Given the description of an element on the screen output the (x, y) to click on. 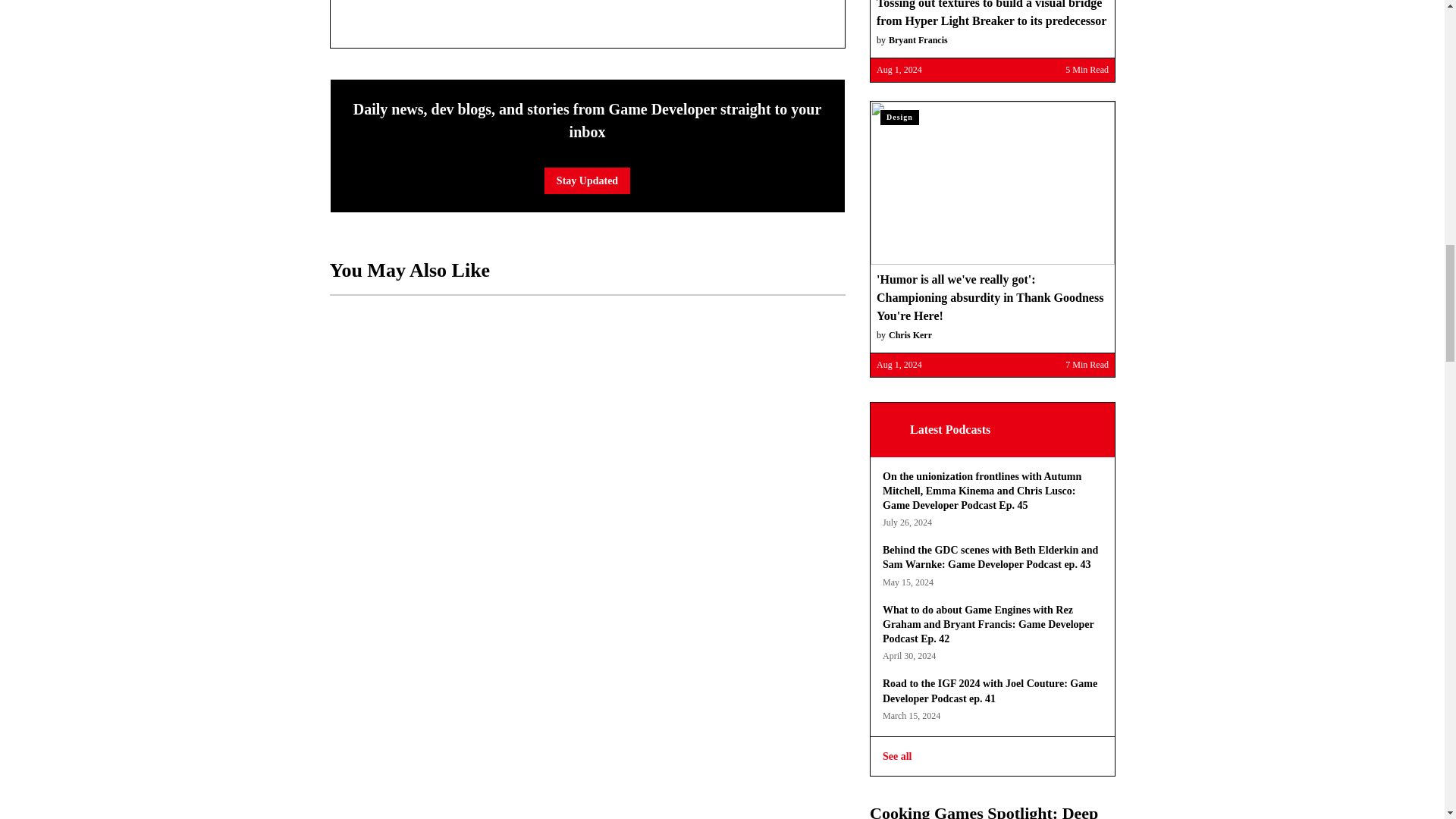
Christian Nutt (384, 14)
